Given the description of an element on the screen output the (x, y) to click on. 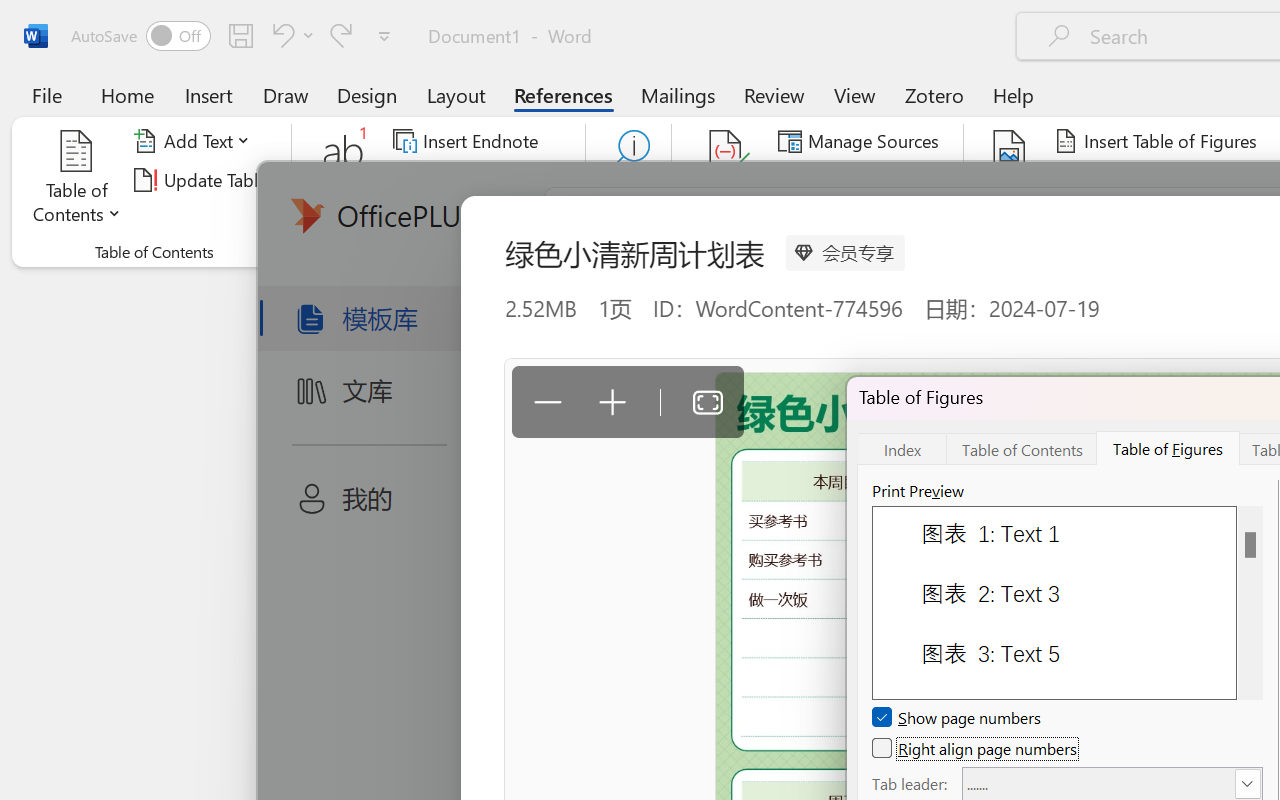
Show Notes (459, 218)
Table of Contents (1022, 447)
Show page numbers (957, 717)
Table of Contents (77, 179)
Index (902, 447)
